Given the description of an element on the screen output the (x, y) to click on. 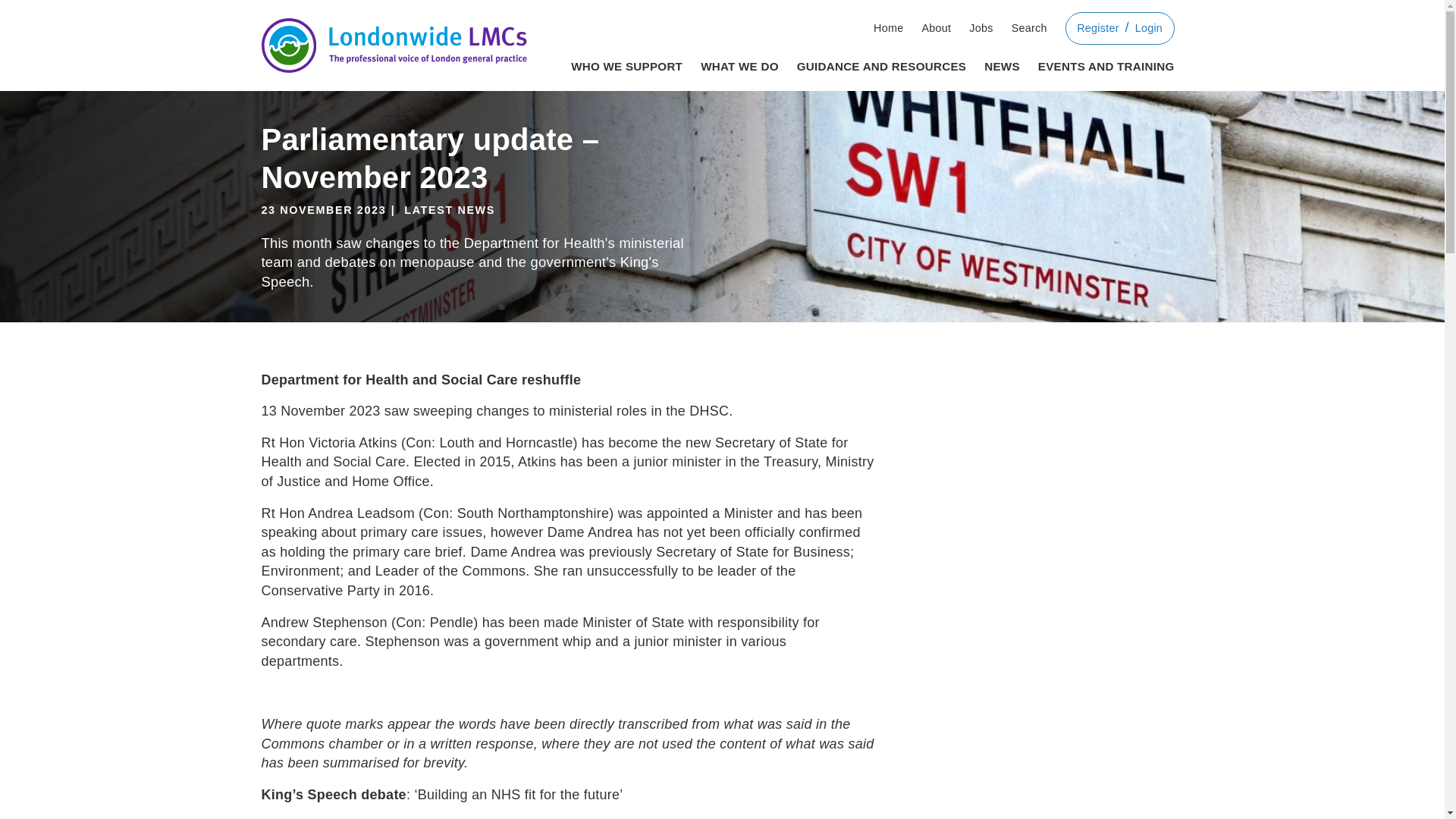
NEWS (1002, 64)
Register (1098, 28)
GUIDANCE AND RESOURCES (881, 64)
About (935, 28)
EVENTS AND TRAINING (1106, 64)
WHO WE SUPPORT (626, 64)
Home (887, 28)
Londonwide LMCs (392, 45)
WHAT WE DO (739, 64)
